Given the description of an element on the screen output the (x, y) to click on. 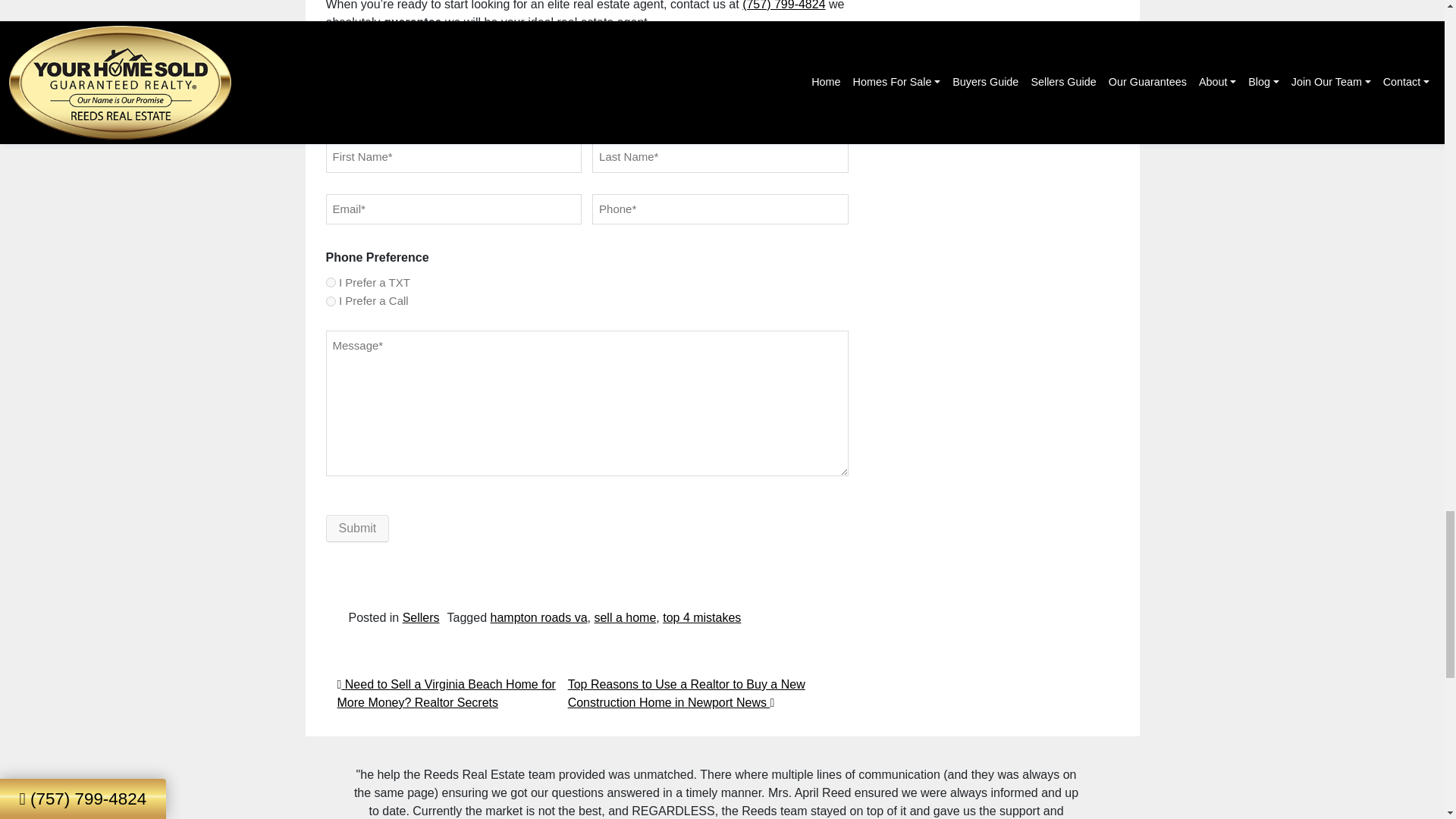
I Prefer a TXT (331, 282)
I Prefer a Call (331, 300)
Submit (358, 528)
